Given the description of an element on the screen output the (x, y) to click on. 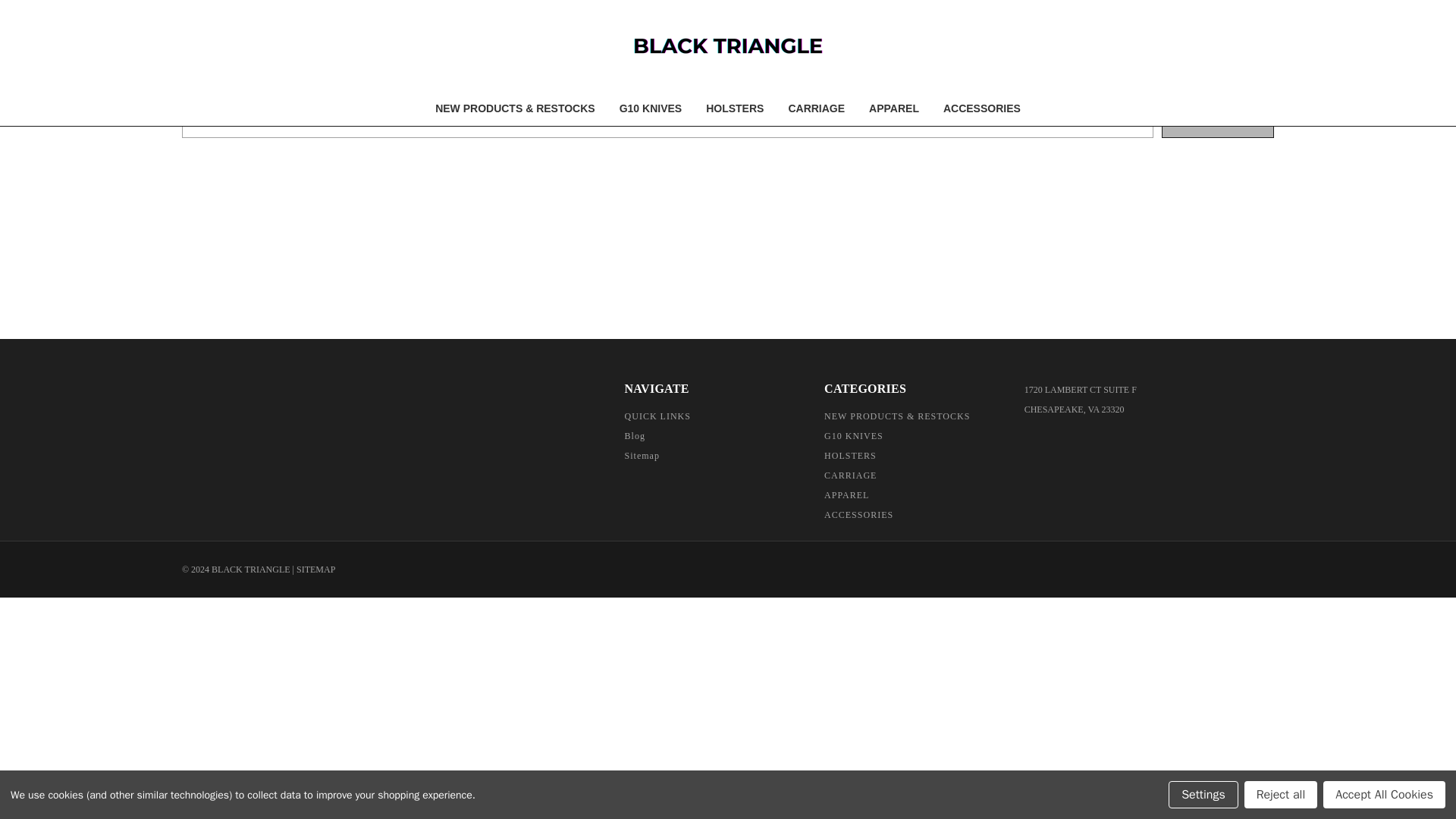
Search (1217, 122)
APPAREL (893, 108)
Search (1217, 122)
ACCESSORIES (981, 108)
CARRIAGE (815, 108)
G10 KNIVES (650, 108)
HOLSTERS (734, 108)
BLACK TRIANGLE (727, 44)
